Given the description of an element on the screen output the (x, y) to click on. 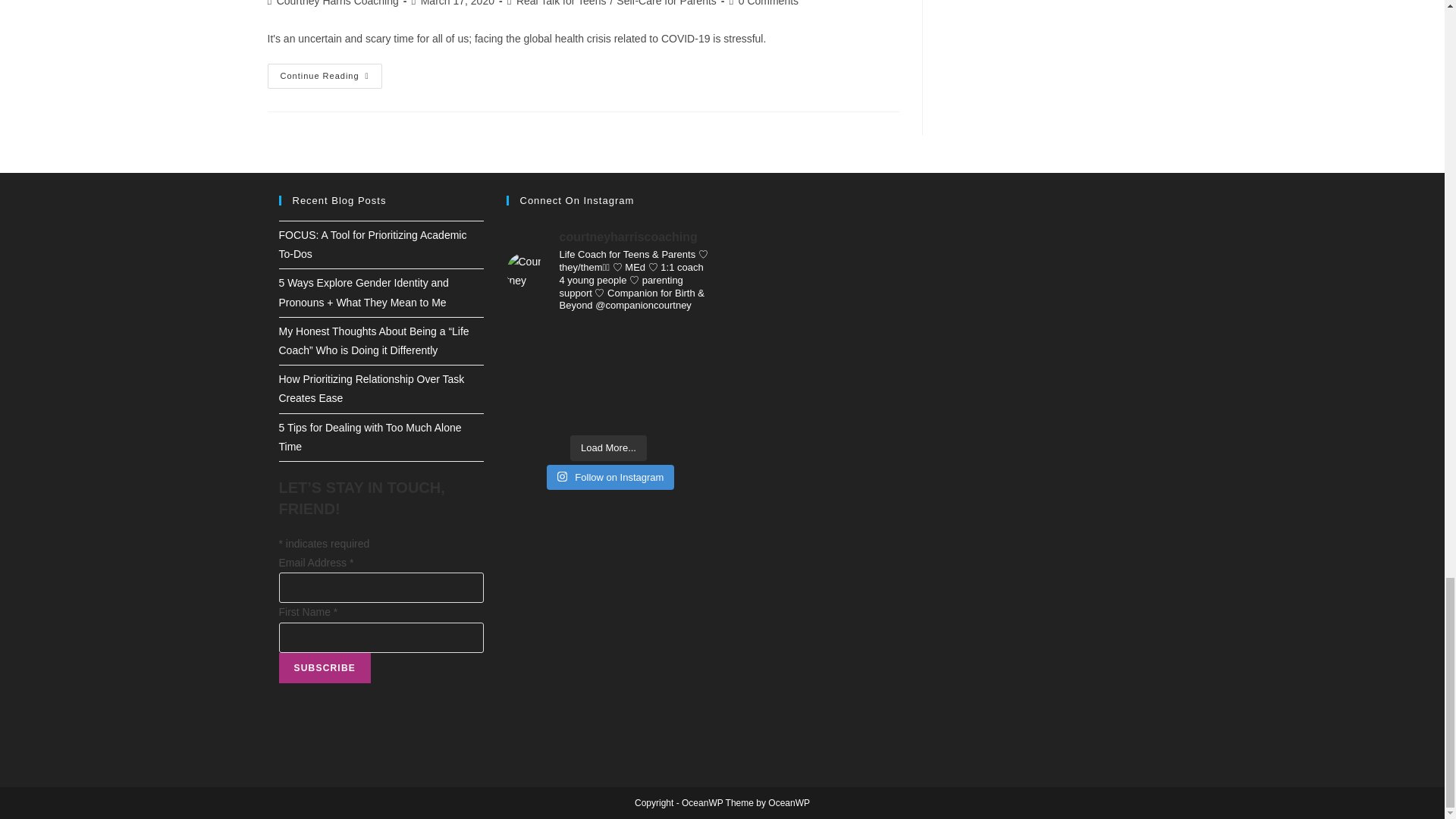
Posts by Courtney Harris Coaching (337, 3)
Subscribe (325, 667)
